Given the description of an element on the screen output the (x, y) to click on. 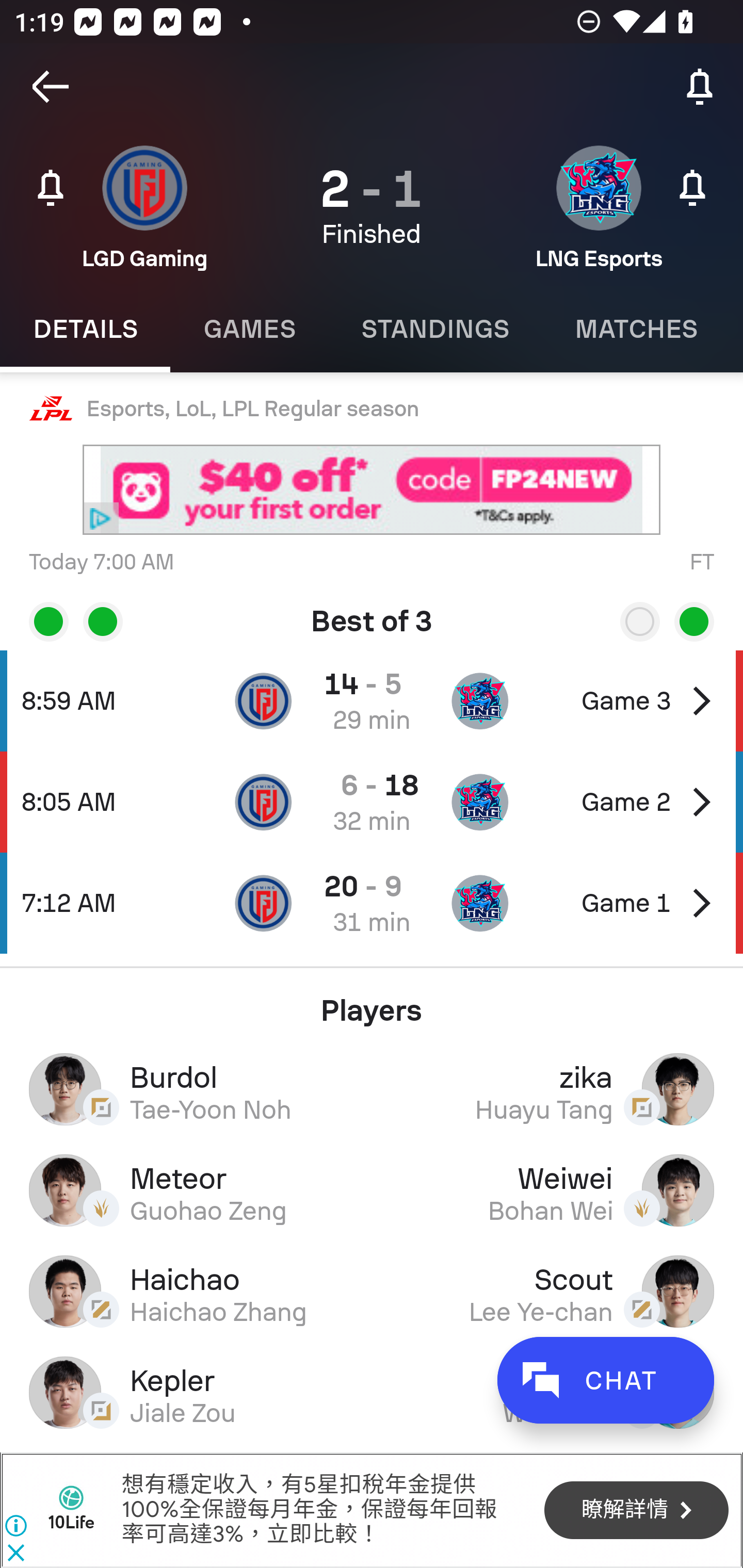
Navigate up (50, 86)
Games GAMES (249, 329)
Standings STANDINGS (434, 329)
Matches MATCHES (635, 329)
Esports, LoL, LPL Regular season (371, 409)
cf281ee6b5b36c080d8d (371, 489)
Best of 3 (371, 614)
8:59 AM 14 - 5 29 min Game 3 (371, 700)
8:05 AM 6 - 18 32 min Game 2 (371, 801)
7:12 AM 20 - 9 31 min Game 1 (371, 902)
Players (371, 1002)
Burdol zika Tae-Yoon Noh Huayu Tang (371, 1088)
Meteor Weiwei Guohao Zeng Bohan Wei (371, 1189)
Haichao Scout Haichao Zhang Lee Ye-chan (371, 1291)
CHAT (605, 1380)
10Life (71, 1509)
瞭解詳情 (636, 1511)
